Given the description of an element on the screen output the (x, y) to click on. 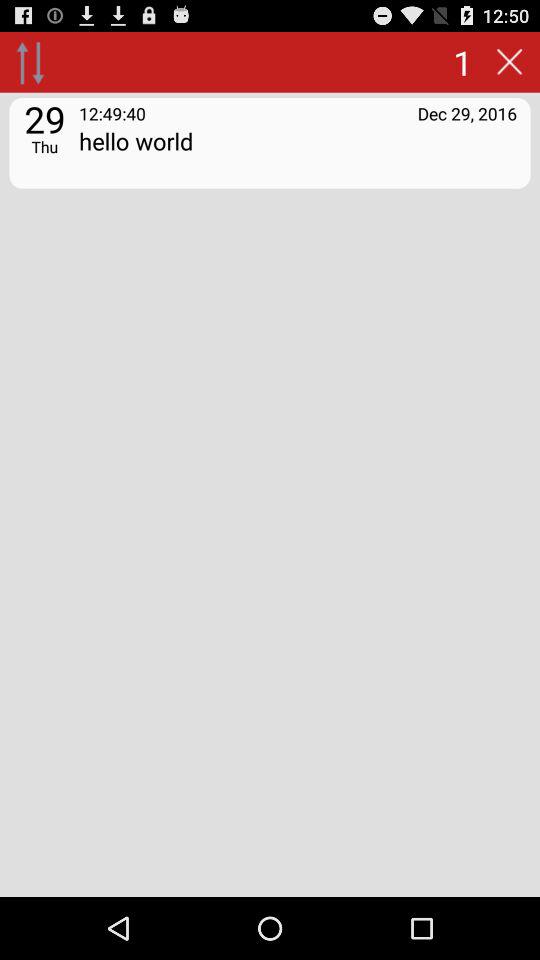
turn on item above 29 (30, 61)
